Given the description of an element on the screen output the (x, y) to click on. 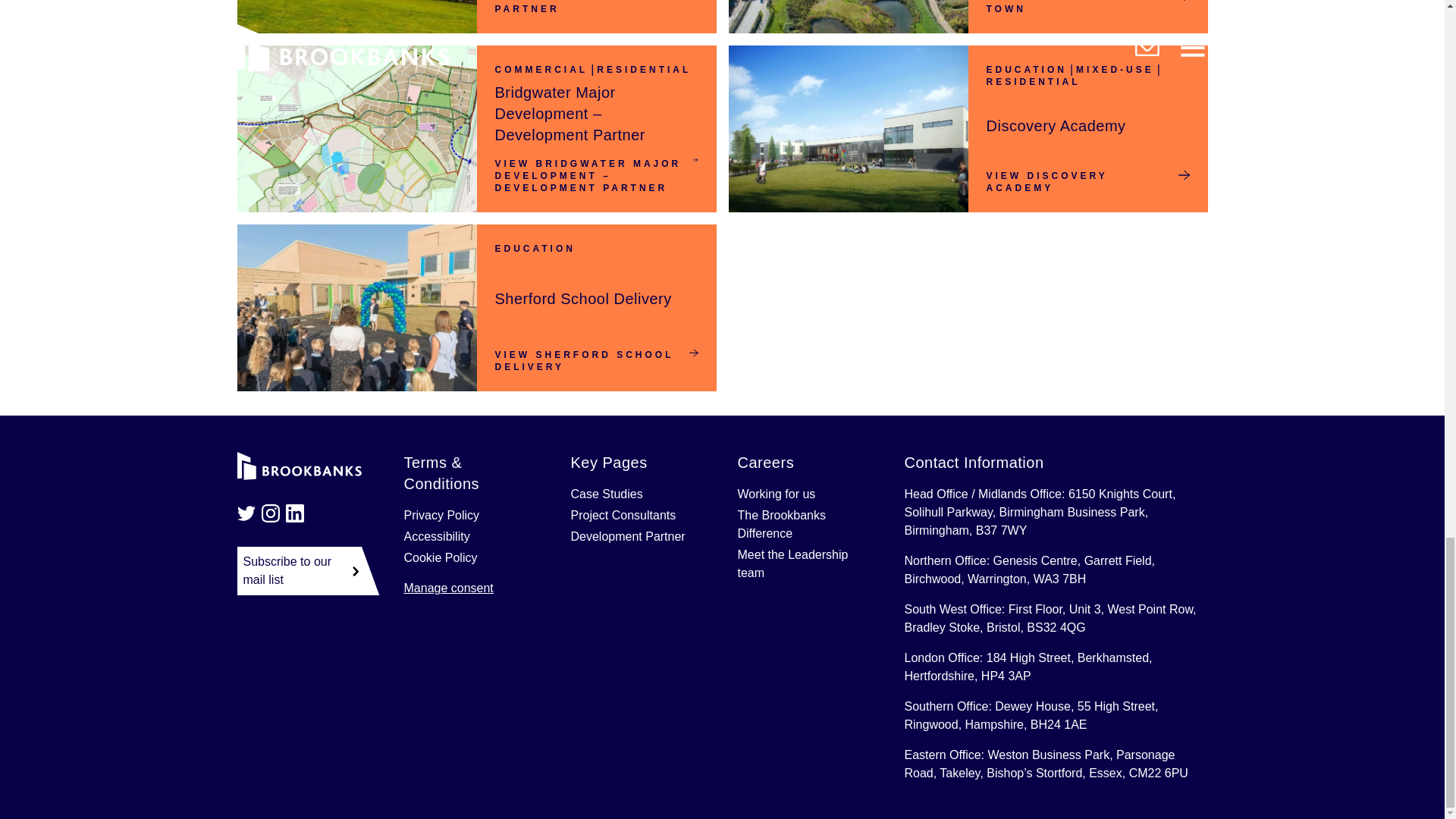
view Sherford New Town (1087, 7)
VIEW SHERFORD SCHOOL DELIVERY (596, 360)
home (298, 465)
VIEW DISCOVERY ACADEMY (1087, 181)
view Discovery Academy (1087, 181)
view Sherford School Delivery (596, 360)
VIEW SHERFORD NEW TOWN (1087, 7)
